Given the description of an element on the screen output the (x, y) to click on. 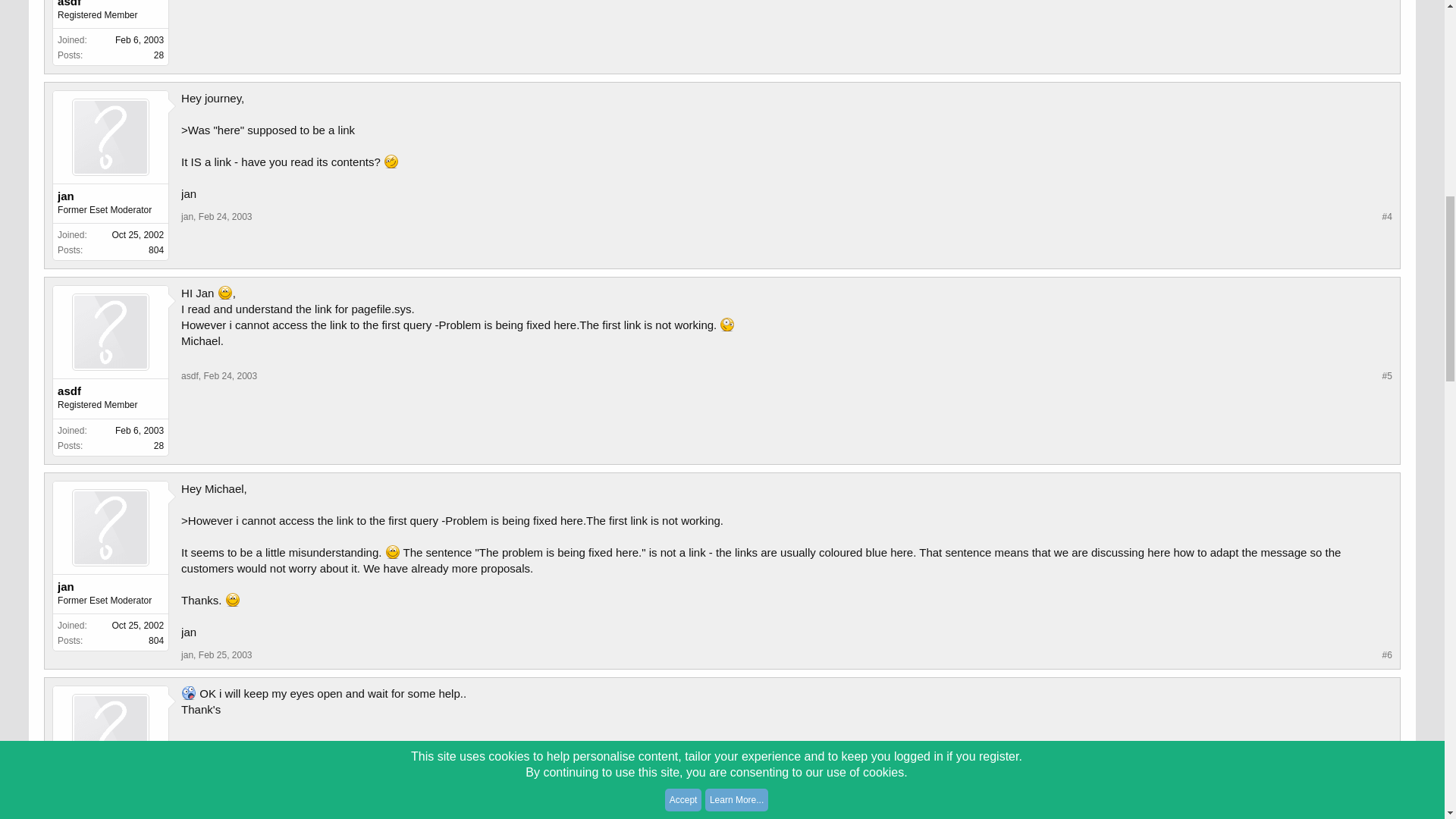
Feb 24, 2003 (224, 216)
jan (110, 196)
28 (158, 54)
804 (155, 249)
asdf (110, 4)
jan (186, 216)
Permalink (224, 216)
asdf (110, 391)
